Given the description of an element on the screen output the (x, y) to click on. 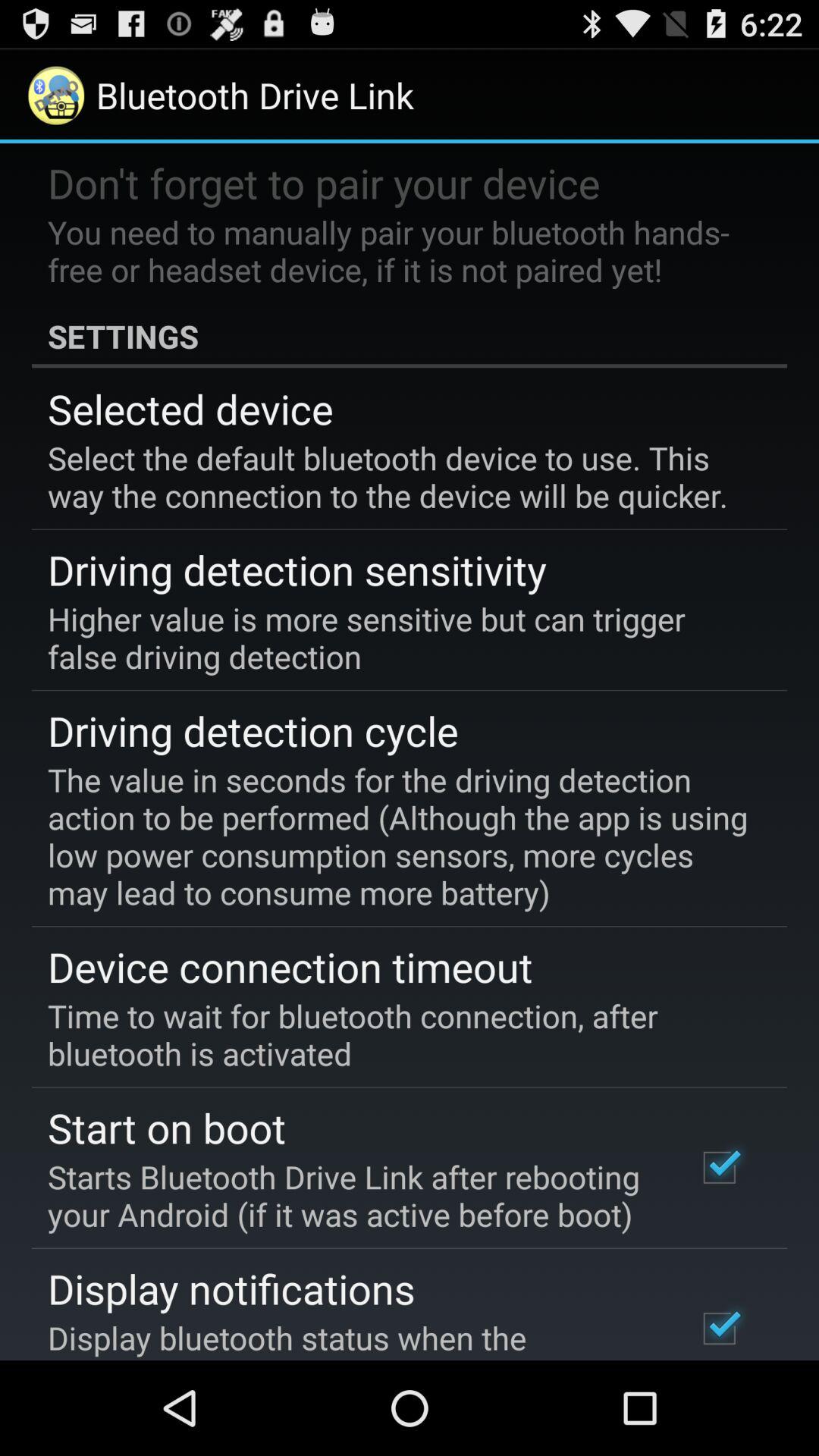
press the select the default icon (399, 476)
